Given the description of an element on the screen output the (x, y) to click on. 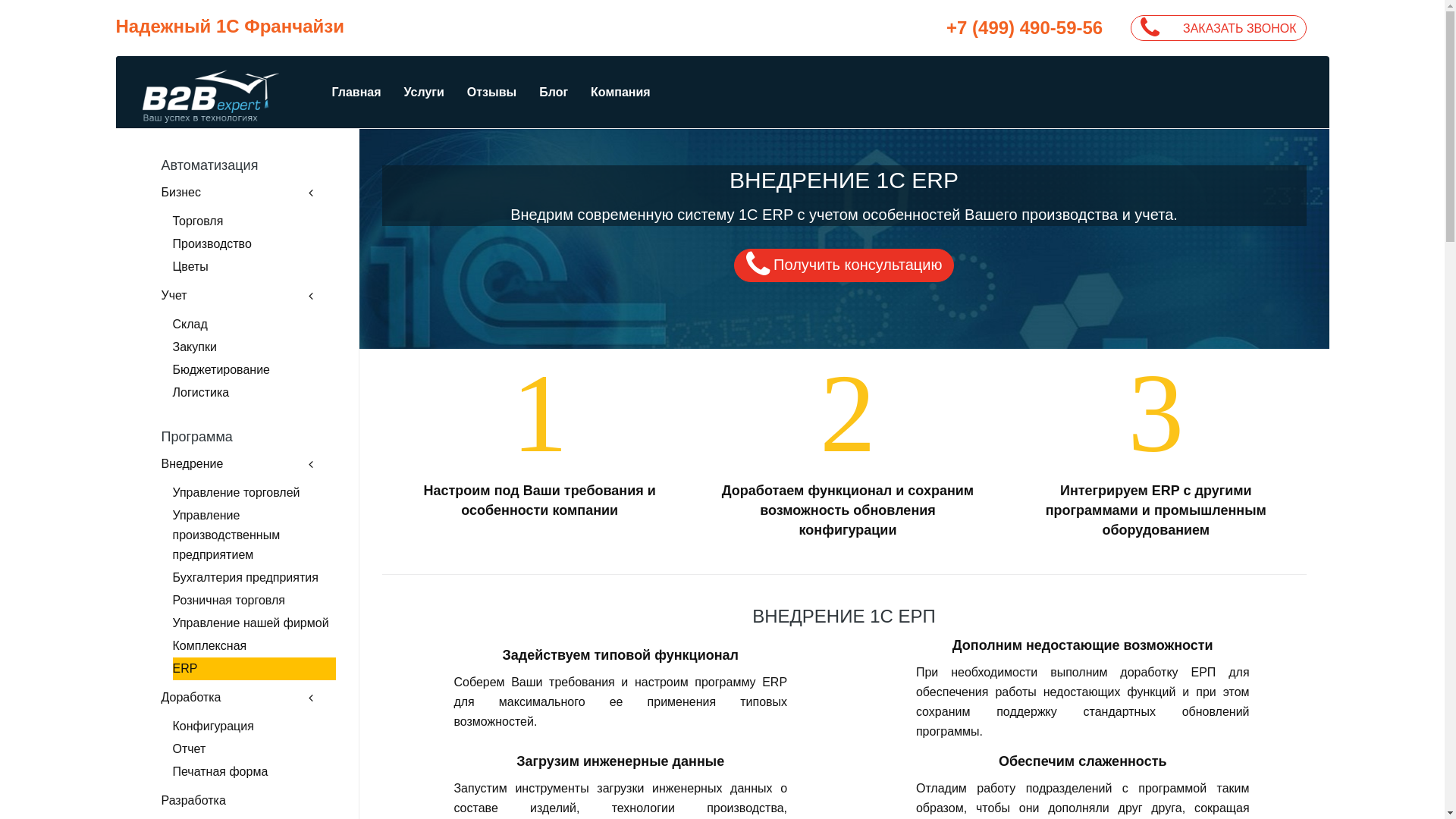
ERP Element type: text (253, 668)
